Given the description of an element on the screen output the (x, y) to click on. 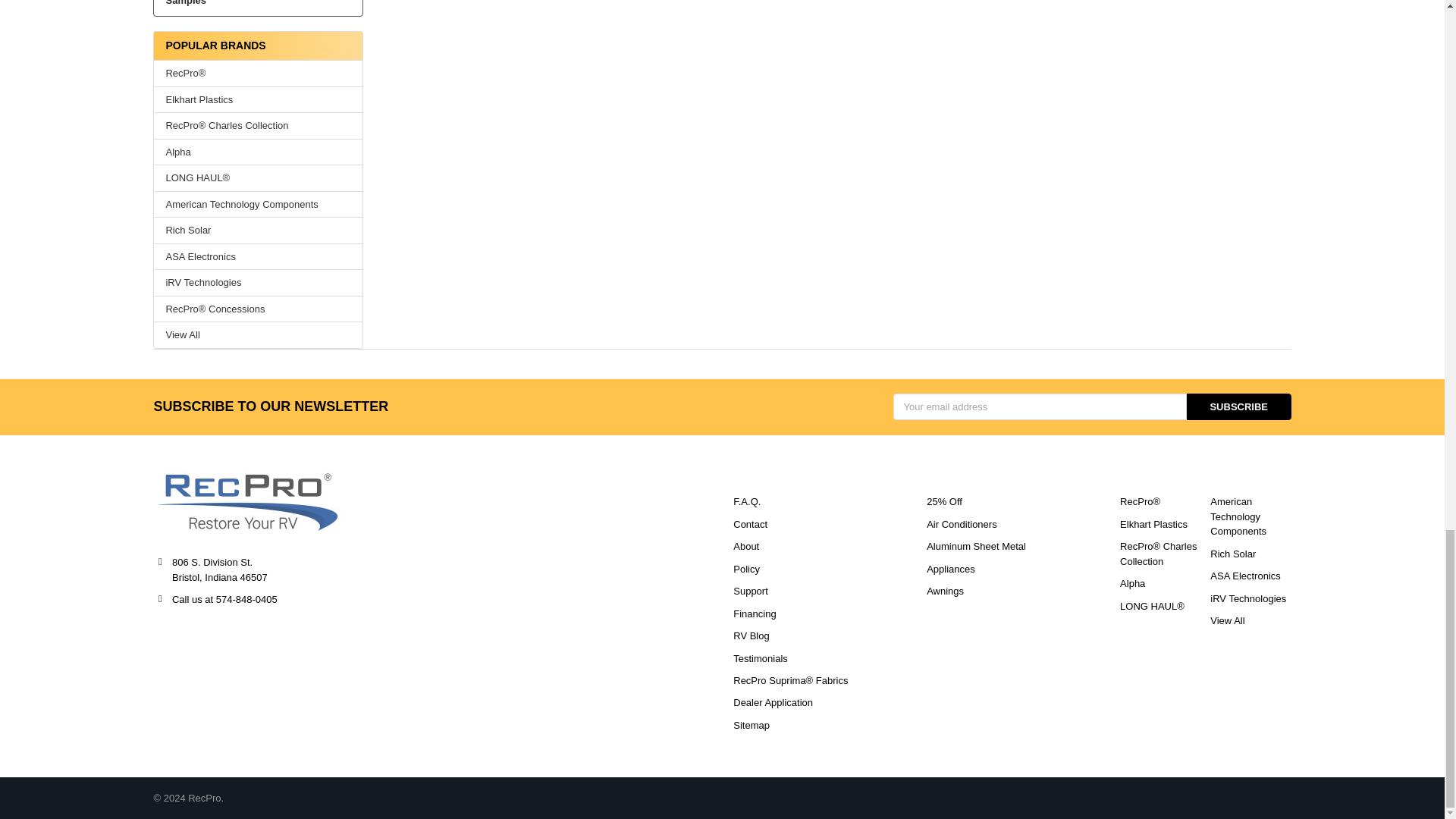
iRV Technologies (257, 282)
Subscribe (1238, 406)
Alpha (257, 151)
ASA Electronics (257, 256)
Rich Solar (257, 230)
Elkhart Plastics (257, 99)
American Technology Components (257, 204)
